Given the description of an element on the screen output the (x, y) to click on. 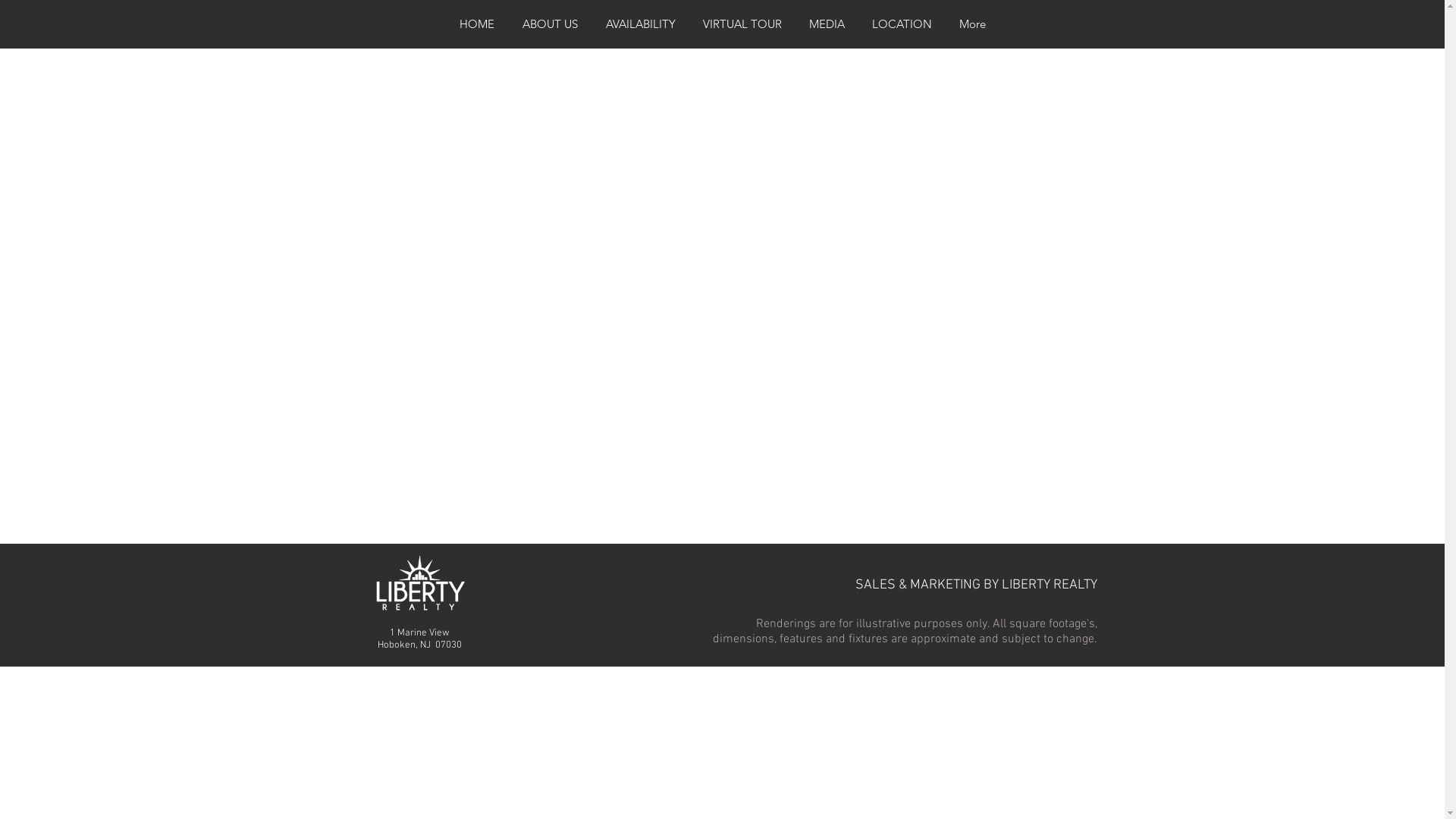
Embedded Content Element type: hover (721, 295)
HOME Element type: text (476, 24)
LOCATION Element type: text (901, 24)
MEDIA Element type: text (825, 24)
AVAILABILITY Element type: text (639, 24)
ABOUT US Element type: text (549, 24)
